Given the description of an element on the screen output the (x, y) to click on. 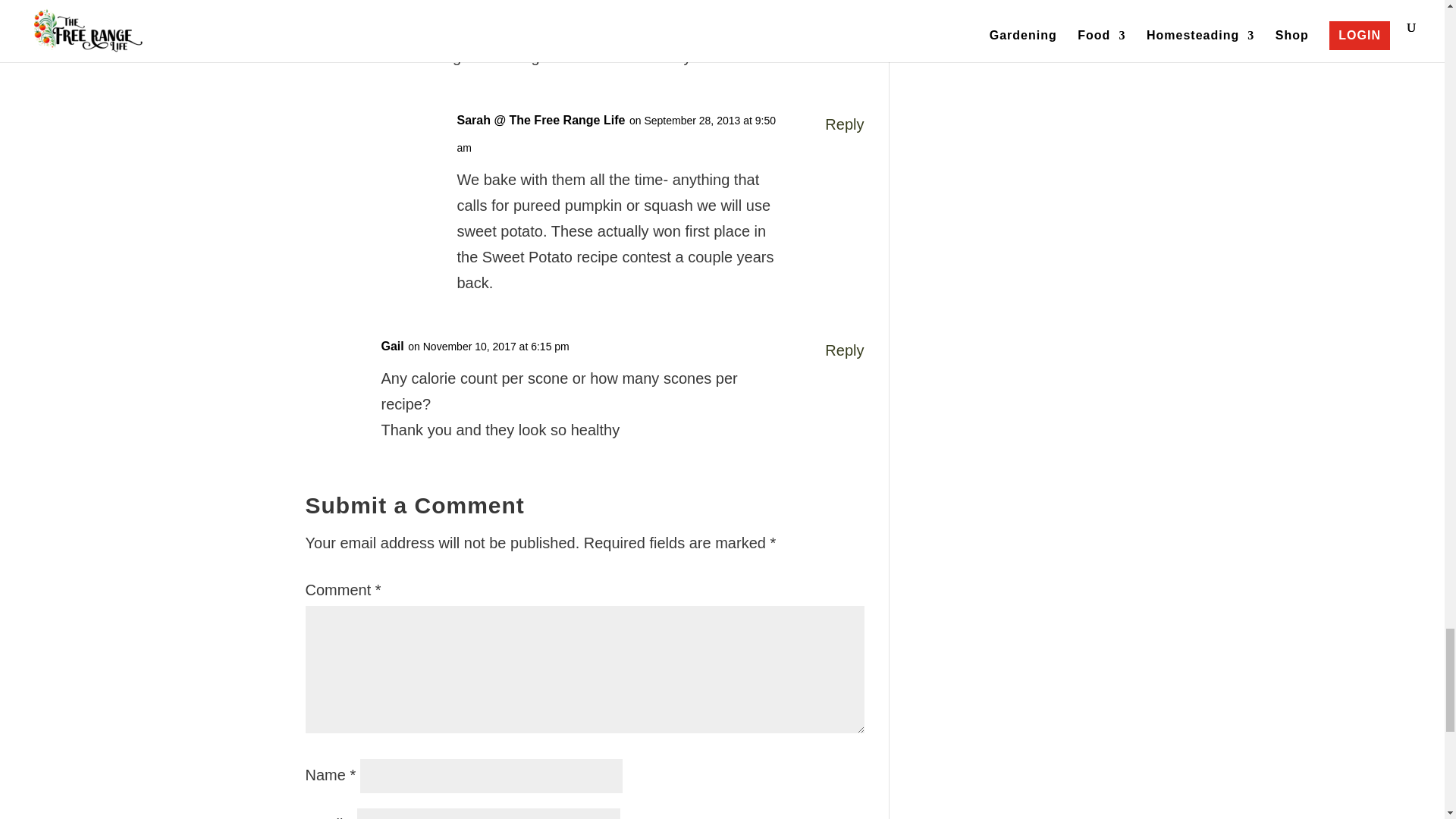
Reply (844, 350)
Reply (844, 124)
Reply (844, 7)
